Given the description of an element on the screen output the (x, y) to click on. 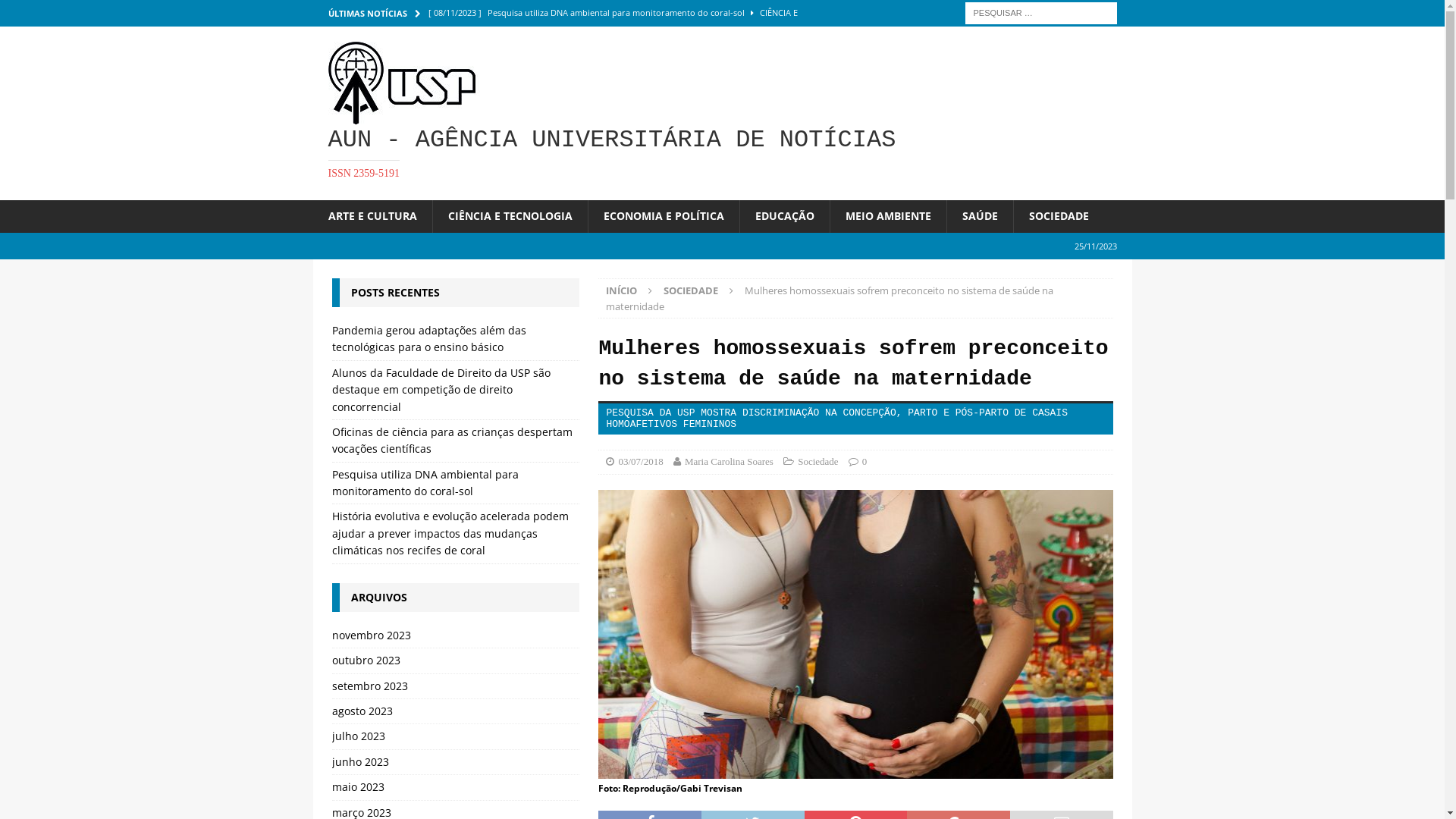
setembro 2023 Element type: text (455, 686)
agosto 2023 Element type: text (455, 711)
novembro 2023 Element type: text (455, 637)
0 Element type: text (864, 461)
ARTE E CULTURA Element type: text (371, 216)
Pesquisar Element type: text (56, 11)
SOCIEDADE Element type: text (1058, 216)
mulheres homossexuais Element type: hover (855, 633)
junho 2023 Element type: text (455, 761)
outubro 2023 Element type: text (455, 660)
Sociedade Element type: text (817, 461)
maio 2023 Element type: text (455, 787)
SOCIEDADE Element type: text (690, 290)
MEIO AMBIENTE Element type: text (887, 216)
julho 2023 Element type: text (455, 736)
03/07/2018 Element type: text (640, 461)
Maria Carolina Soares Element type: text (728, 461)
